Given the description of an element on the screen output the (x, y) to click on. 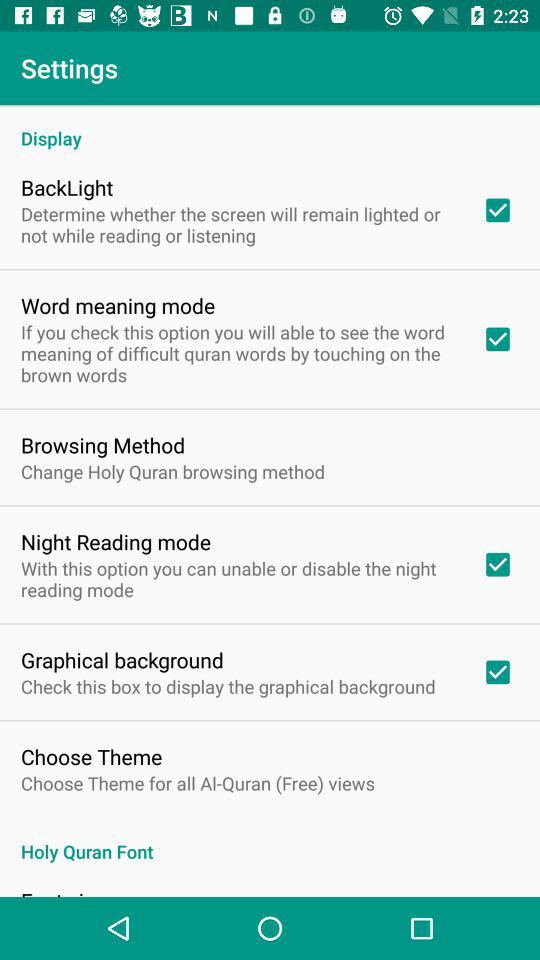
flip to font size icon (63, 891)
